Given the description of an element on the screen output the (x, y) to click on. 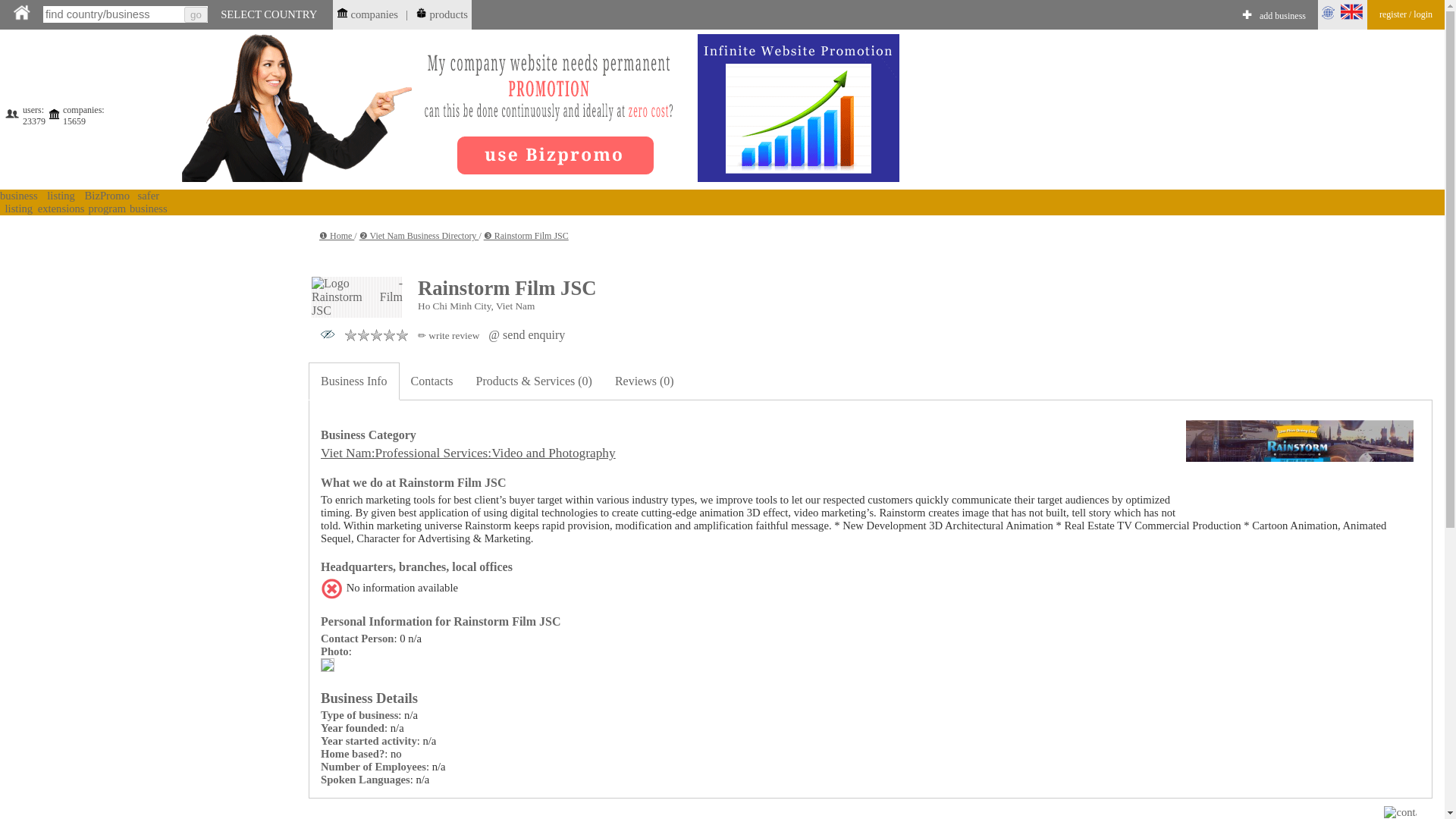
go (196, 14)
SELECT COUNTRY (269, 14)
home (20, 12)
BizPromo program (106, 201)
safer business (148, 201)
listing extensions (60, 201)
business listing (18, 201)
add business (1282, 16)
